Given the description of an element on the screen output the (x, y) to click on. 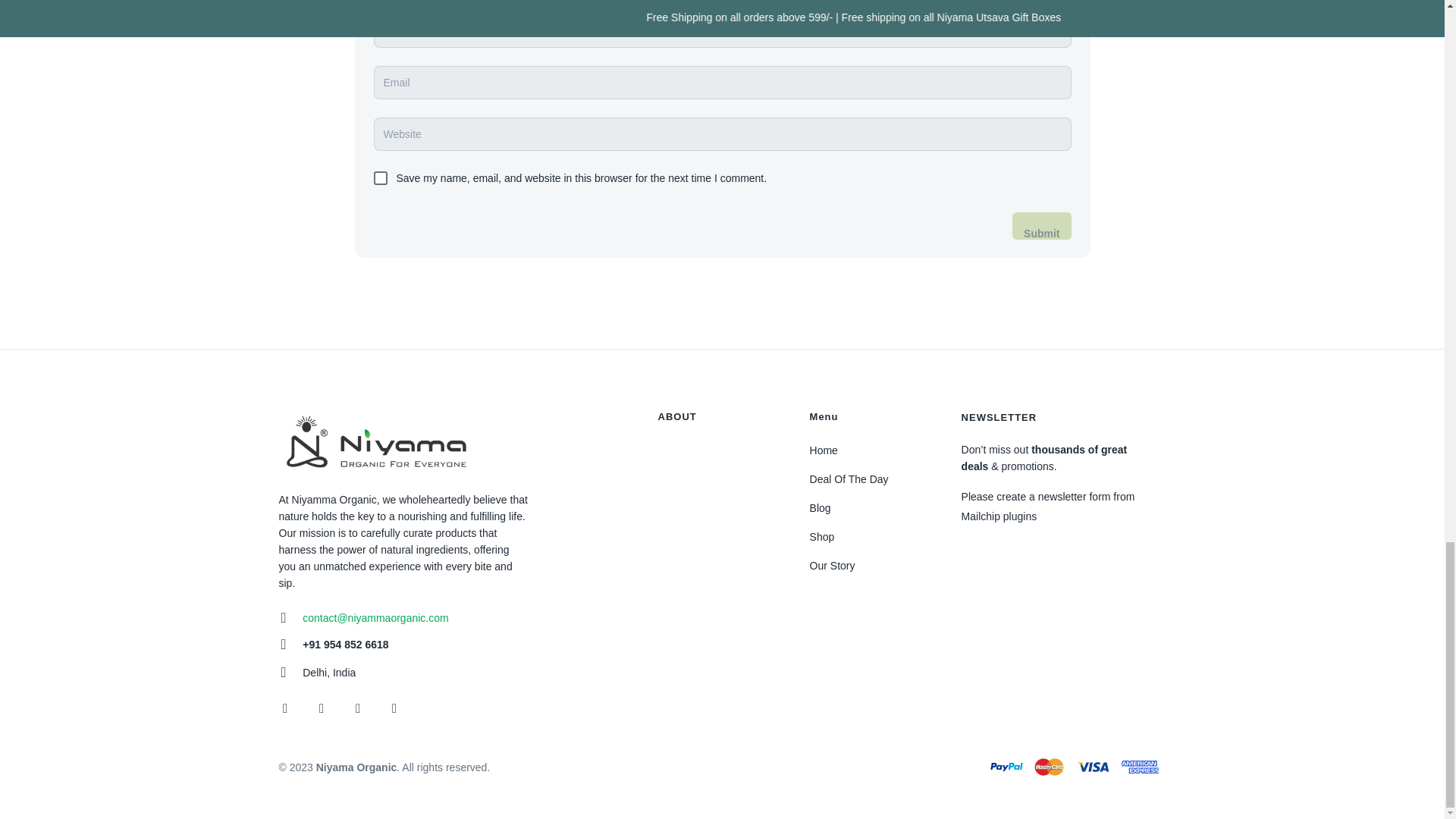
Submit (1040, 225)
